Given the description of an element on the screen output the (x, y) to click on. 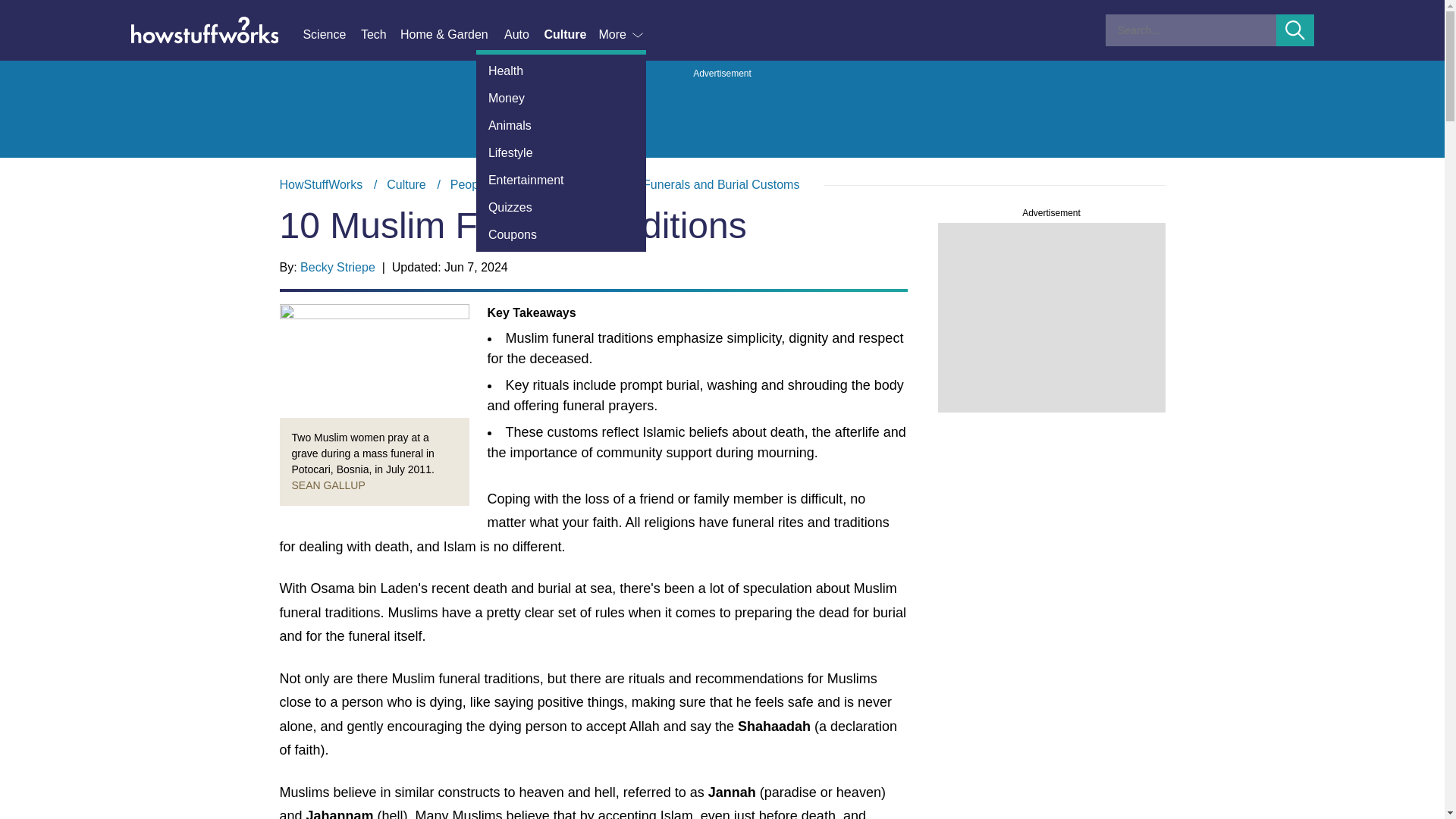
Animals (561, 125)
Coupons (561, 234)
Auto (523, 34)
Tech (380, 34)
Entertainment (561, 180)
Science (330, 34)
Quizzes (561, 207)
Money (561, 98)
Submit Search (1295, 29)
More (621, 34)
Health (561, 71)
People (468, 184)
Culture (570, 34)
Culture (406, 184)
HowStuffWorks (320, 184)
